Given the description of an element on the screen output the (x, y) to click on. 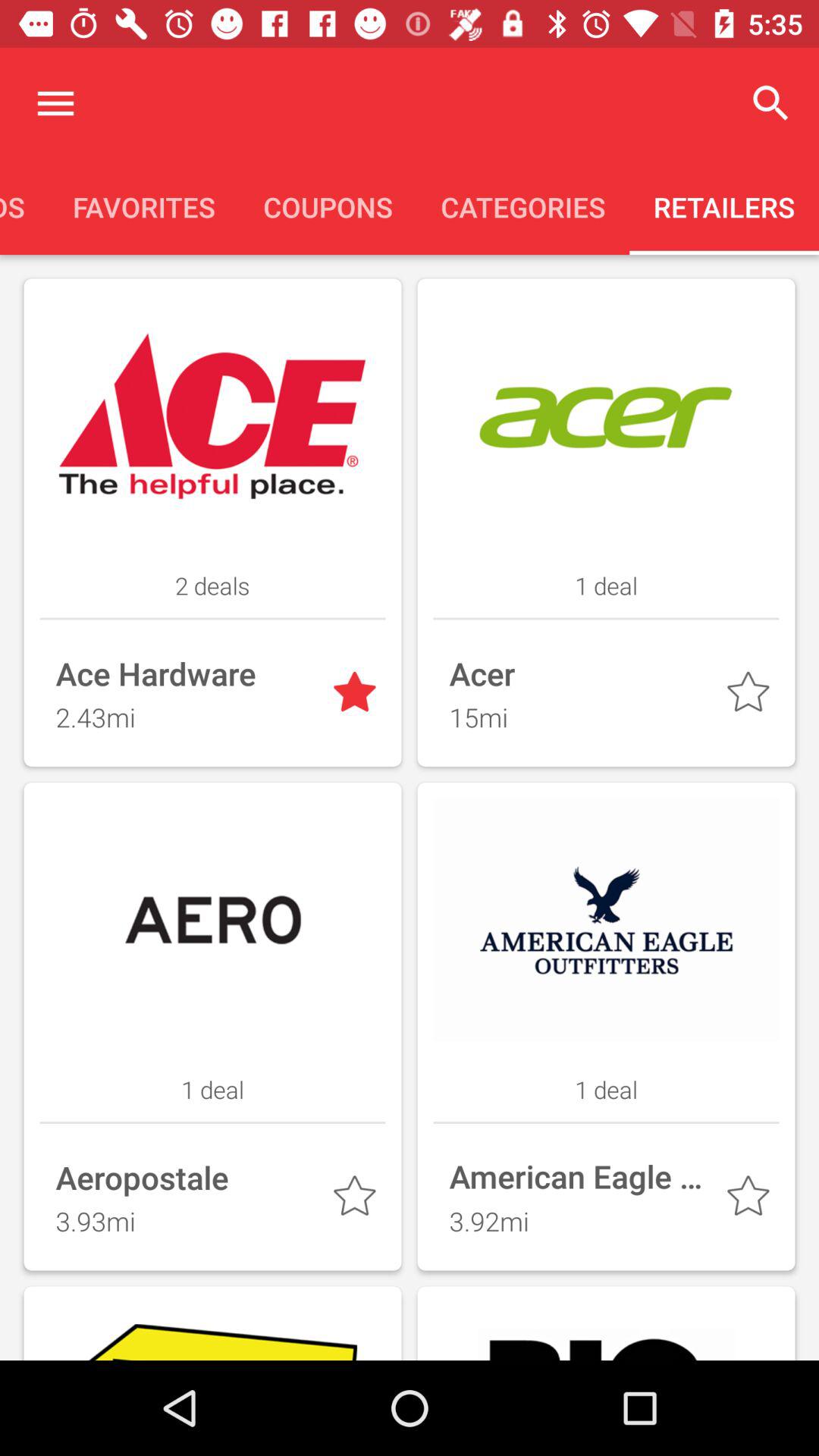
add to favorites (357, 1199)
